Given the description of an element on the screen output the (x, y) to click on. 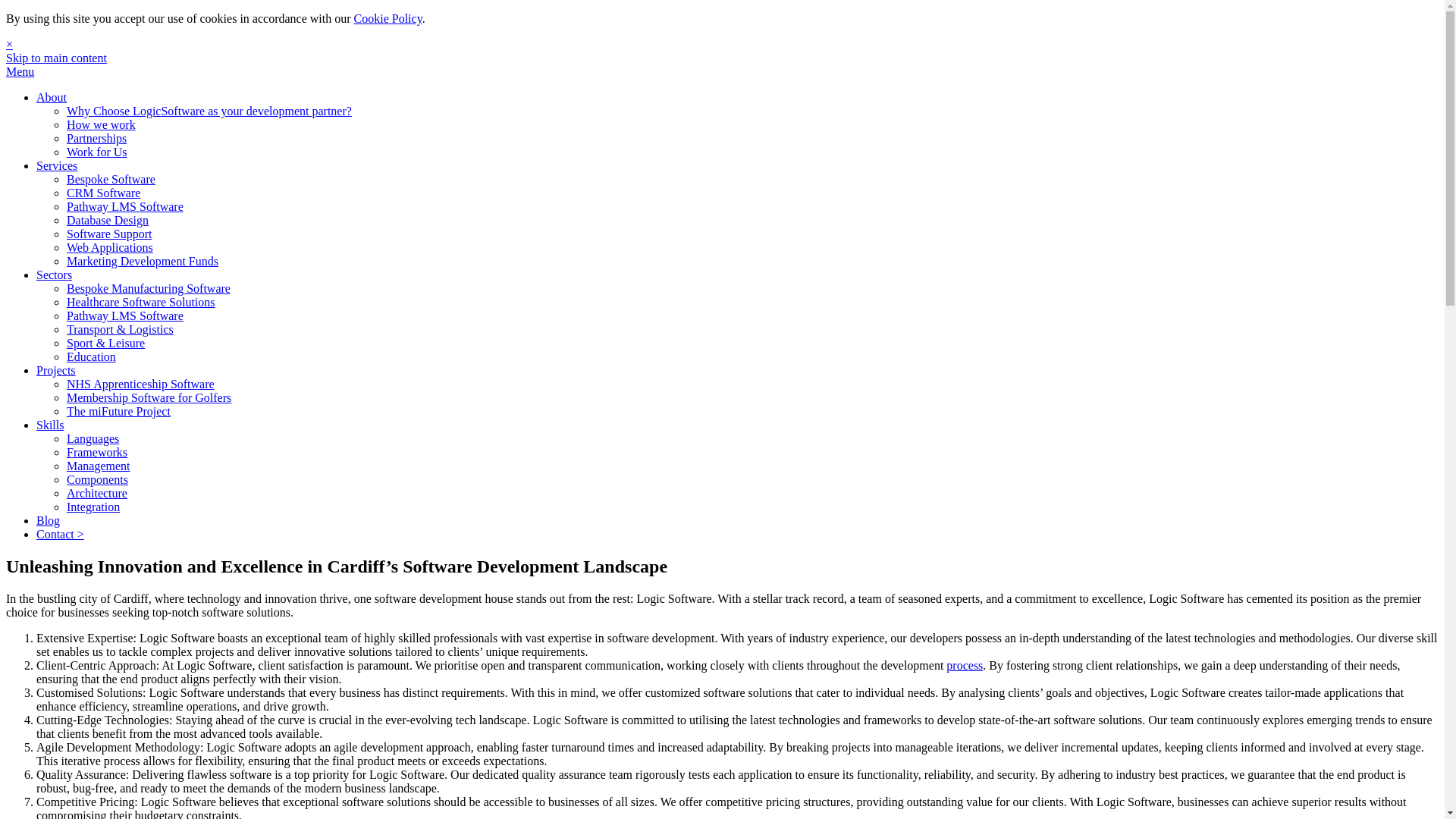
Work for Us (97, 151)
Web Applications (109, 246)
How we work (100, 124)
Software Support (108, 233)
Projects (55, 369)
Sectors (53, 274)
The miFuture Project (118, 410)
Why Choose LogicSoftware as your development partner? (209, 110)
About (51, 97)
Healthcare Software Solutions (140, 301)
CRM Software (102, 192)
Menu (19, 71)
Partnerships (96, 137)
Pathway LMS Software (124, 315)
Services (56, 164)
